Given the description of an element on the screen output the (x, y) to click on. 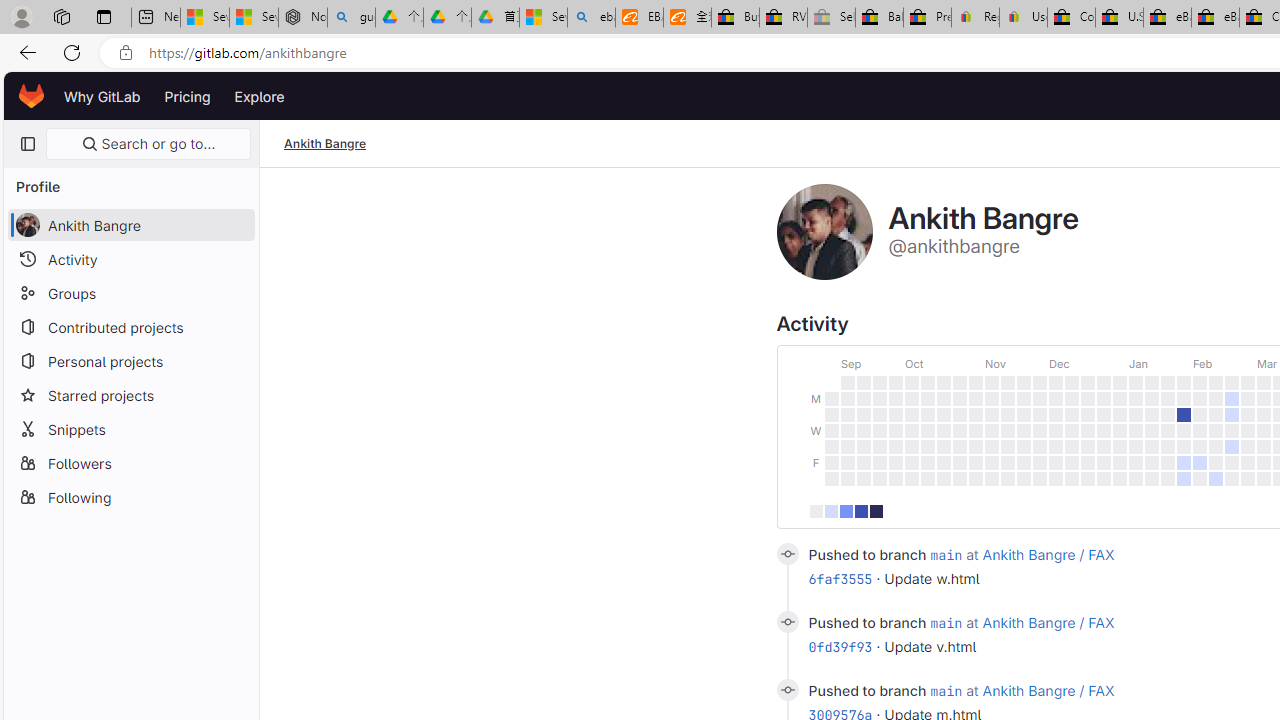
Starred projects (130, 394)
